Given the description of an element on the screen output the (x, y) to click on. 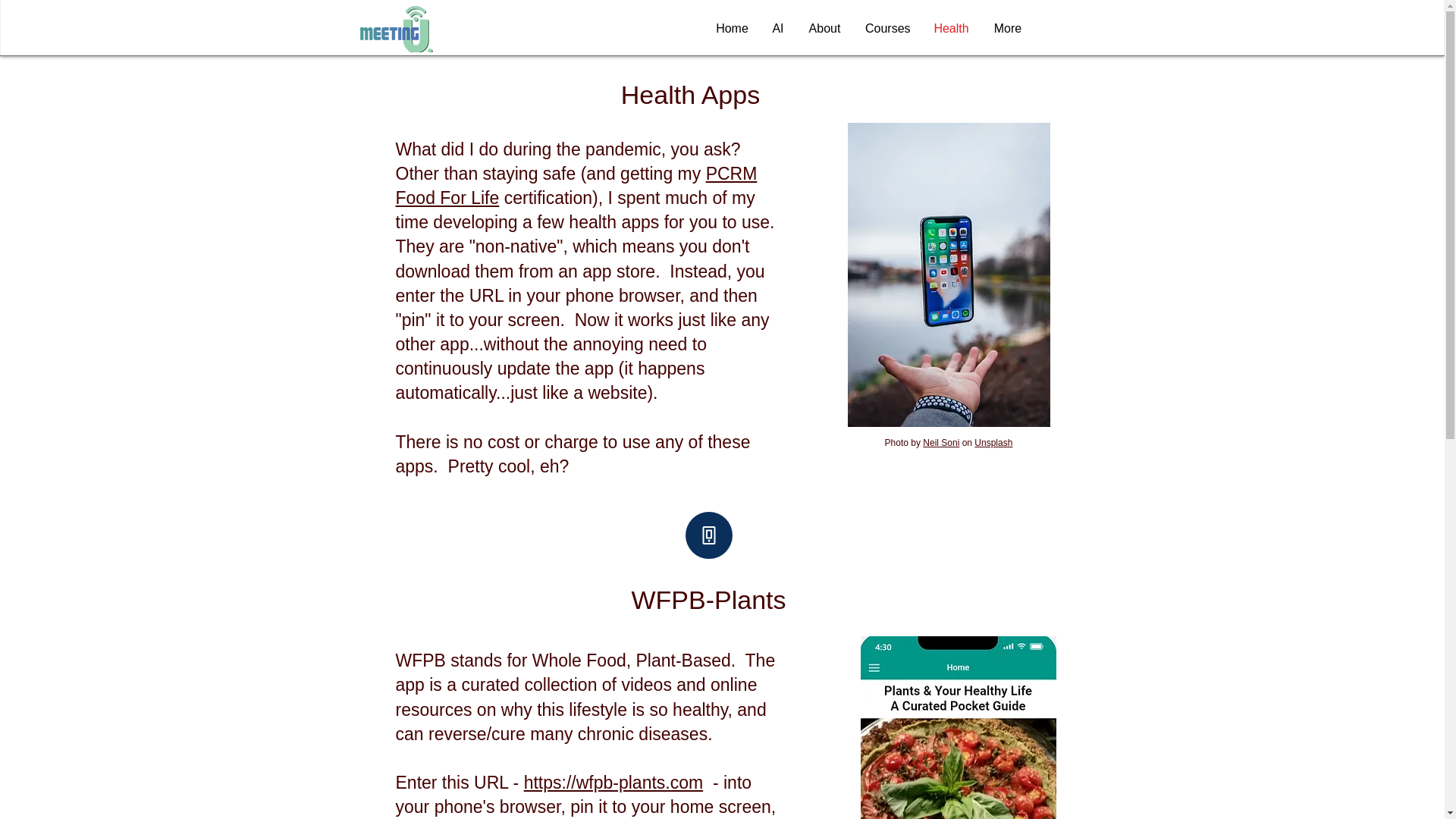
Unsplash (992, 442)
Health (951, 28)
AI (777, 28)
PCRM Food For Life (576, 185)
Home (731, 28)
About (823, 28)
Courses (887, 28)
Neil Soni (941, 442)
